Given the description of an element on the screen output the (x, y) to click on. 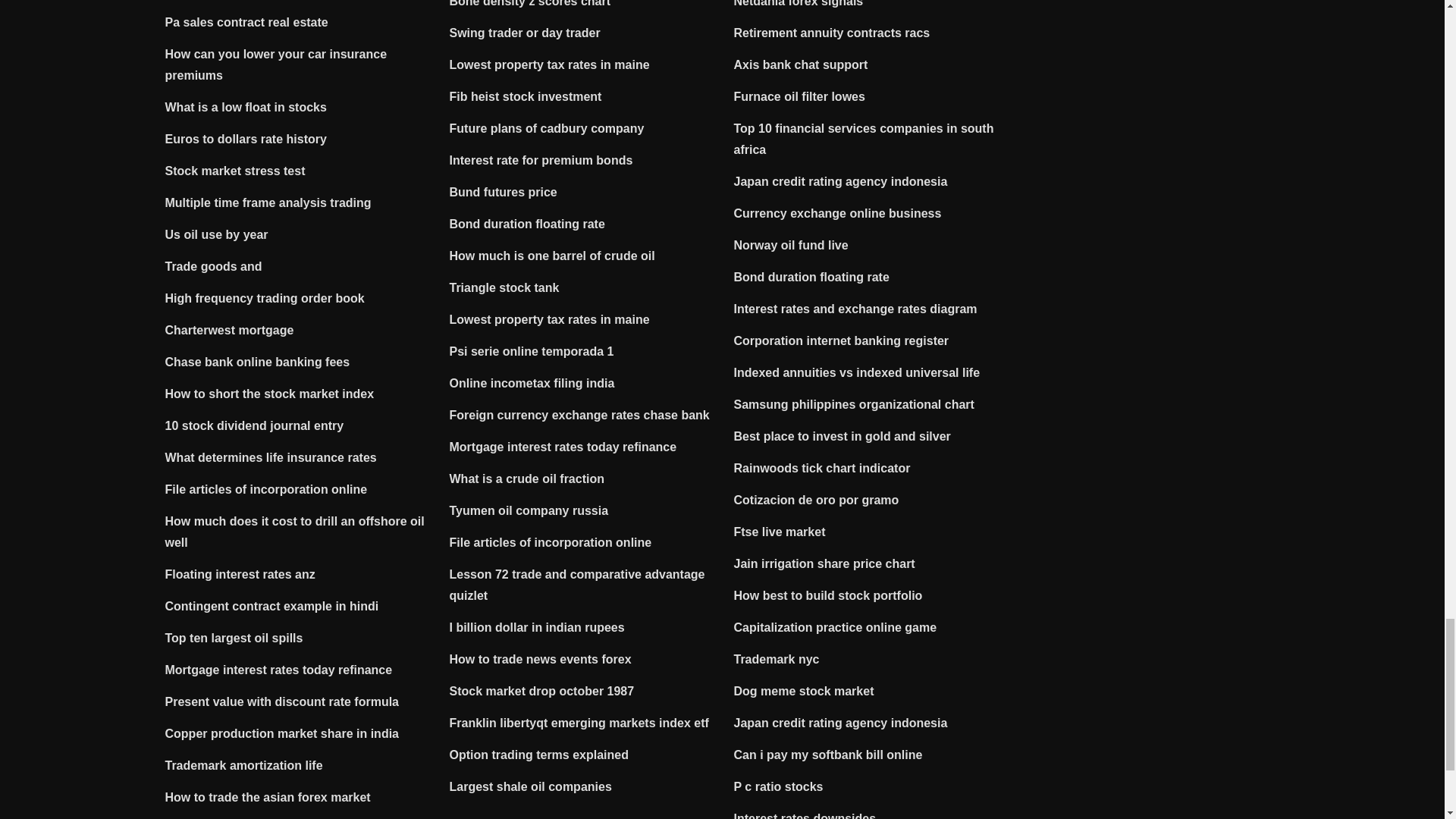
How much does it cost to drill an offshore oil well (295, 531)
File articles of incorporation online (266, 489)
Us oil use by year (216, 234)
Trade goods and (213, 266)
Chase bank online banking fees (257, 361)
High frequency trading order book (265, 297)
Charterwest mortgage (229, 329)
Floating interest rates anz (240, 574)
How can you lower your car insurance premiums (276, 64)
What determines life insurance rates (271, 457)
